Given the description of an element on the screen output the (x, y) to click on. 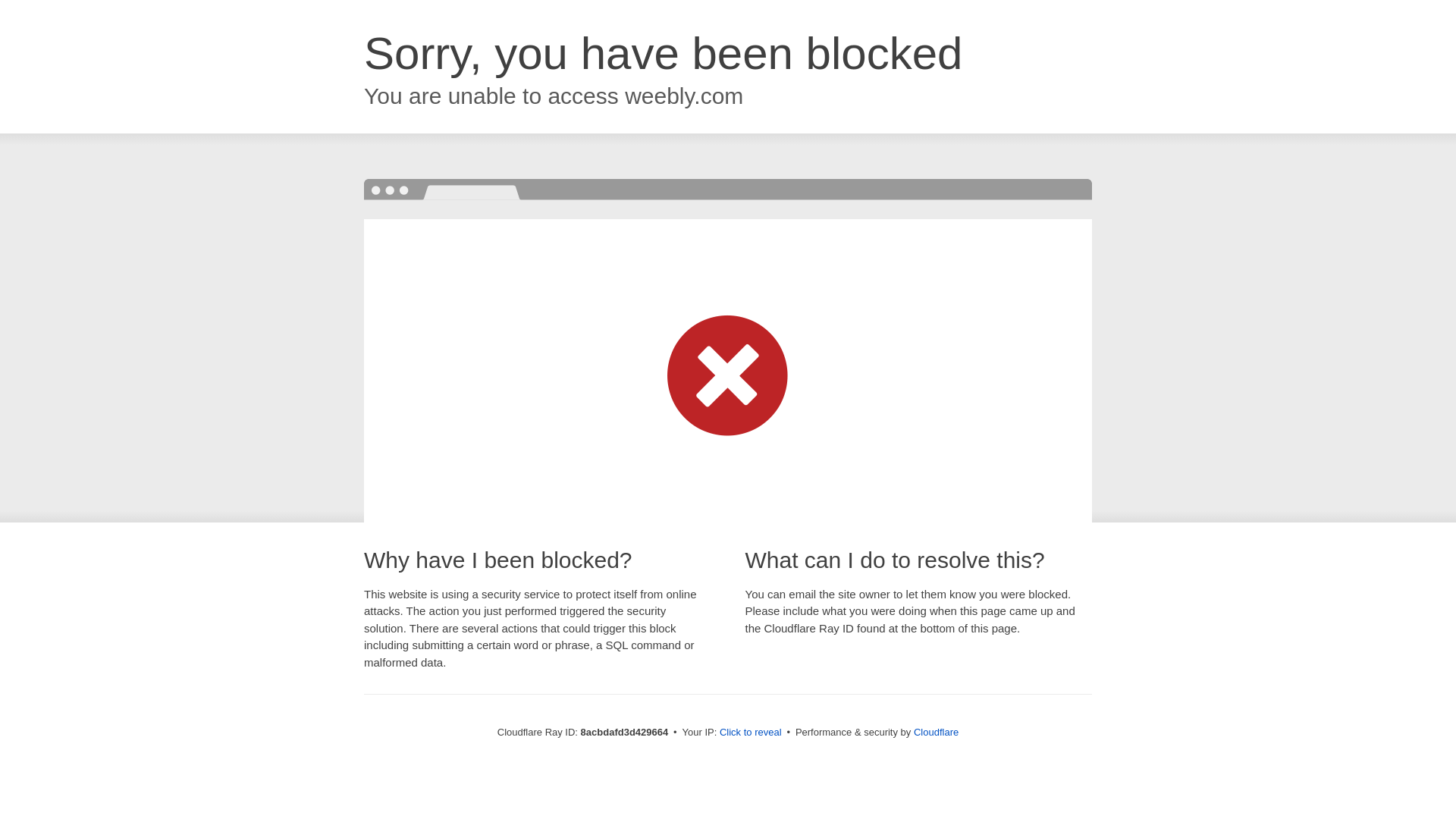
Cloudflare (936, 731)
Click to reveal (750, 732)
